Given the description of an element on the screen output the (x, y) to click on. 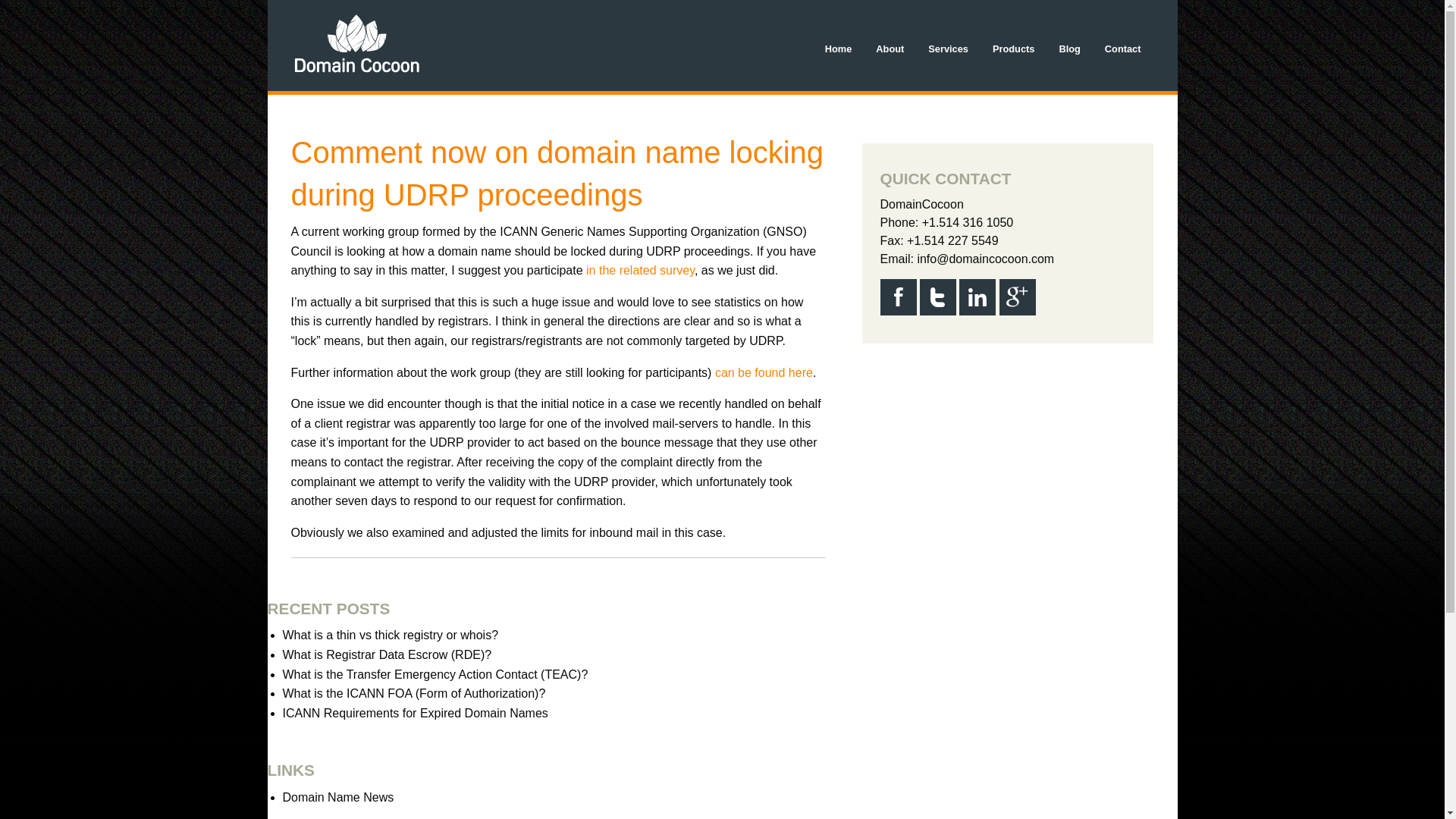
Contact (1123, 49)
Products (1012, 49)
Blog (1069, 49)
Services (947, 49)
About (889, 49)
Home (838, 49)
